Given the description of an element on the screen output the (x, y) to click on. 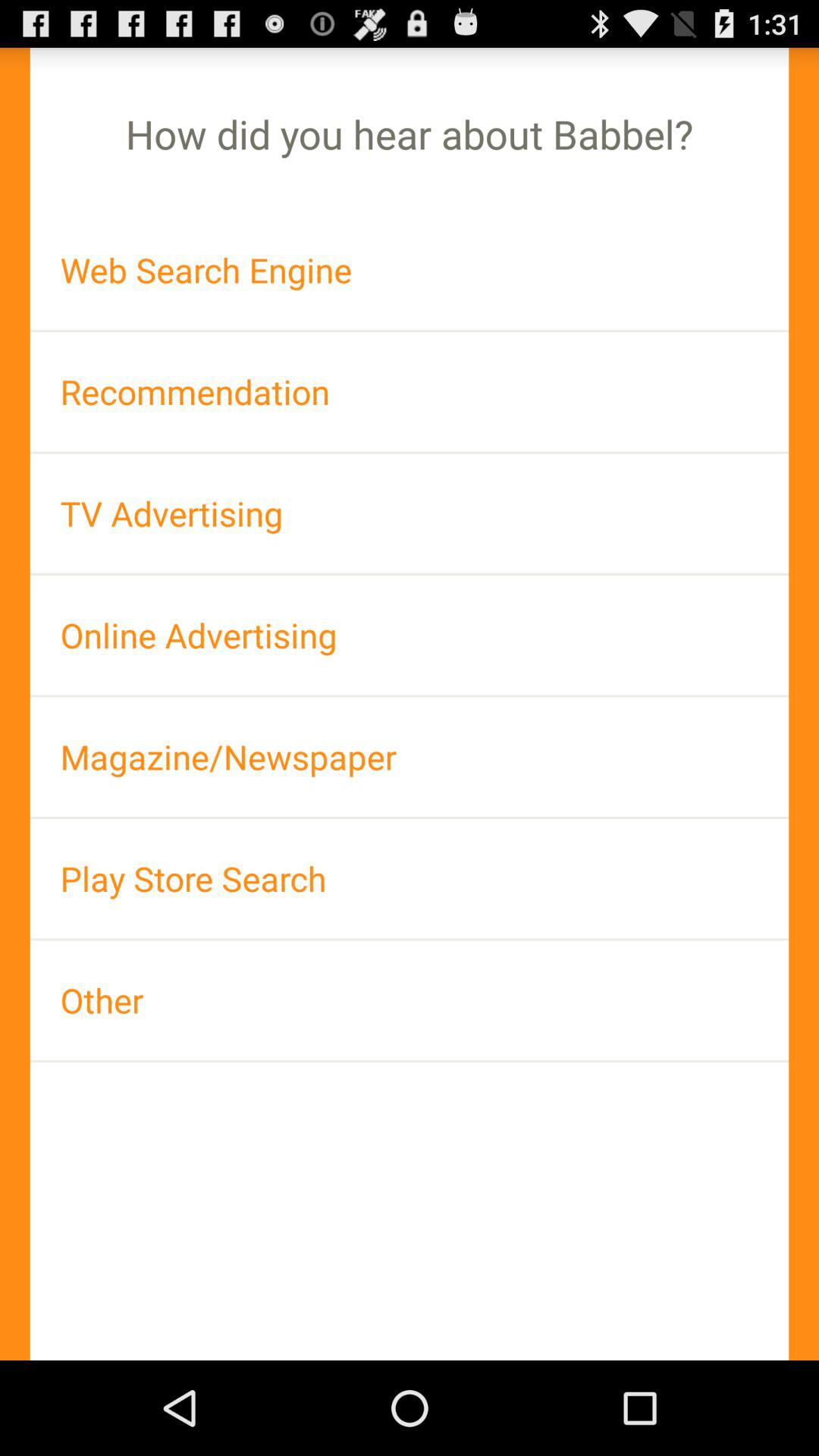
press the icon below magazine/newspaper (409, 878)
